Given the description of an element on the screen output the (x, y) to click on. 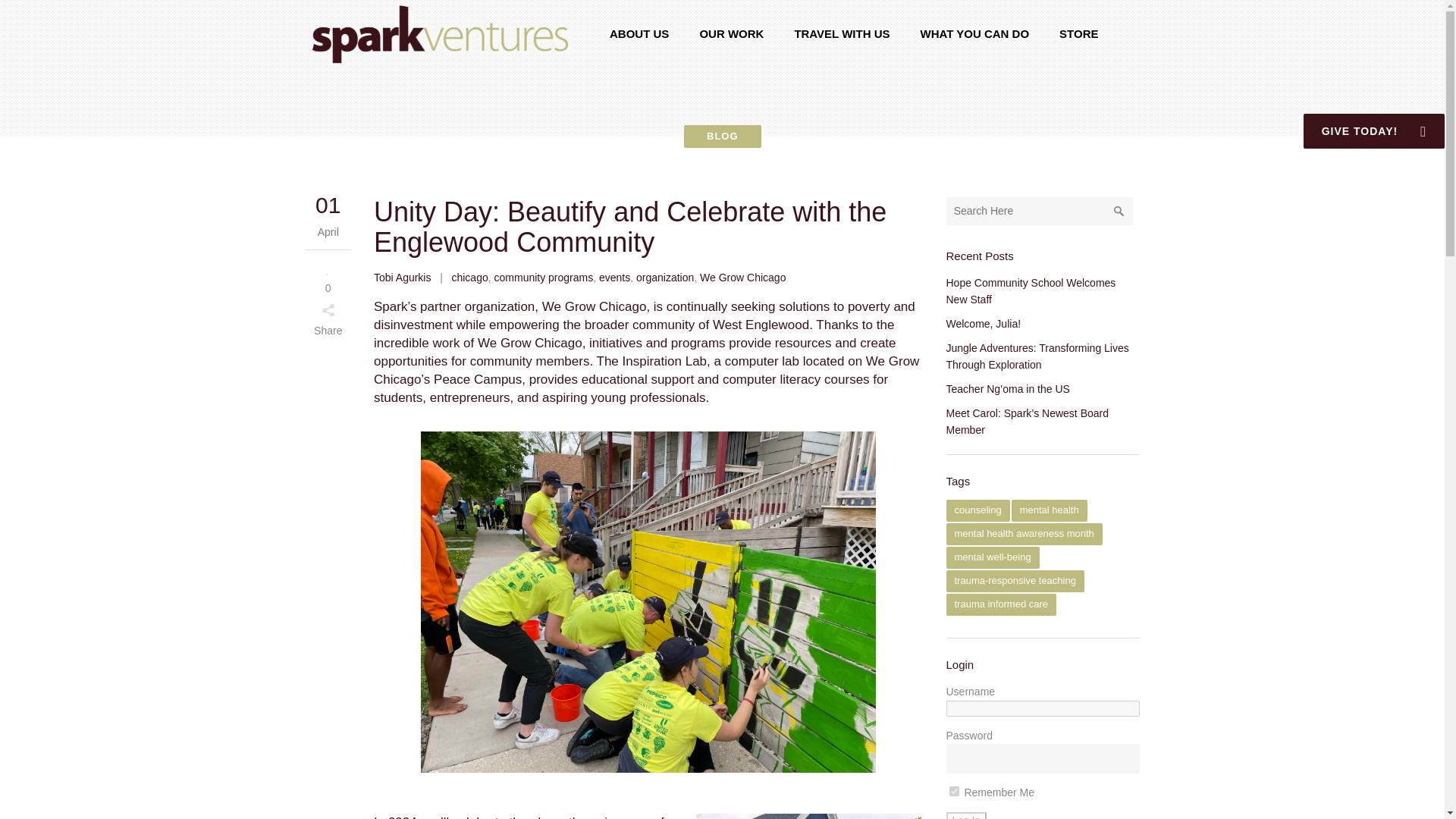
forever (954, 791)
Search (1118, 211)
ABOUT US (639, 33)
OUR WORK (731, 33)
WHAT YOU CAN DO (973, 33)
Log In (966, 815)
Like this (327, 277)
TRAVEL WITH US (841, 33)
